Given the description of an element on the screen output the (x, y) to click on. 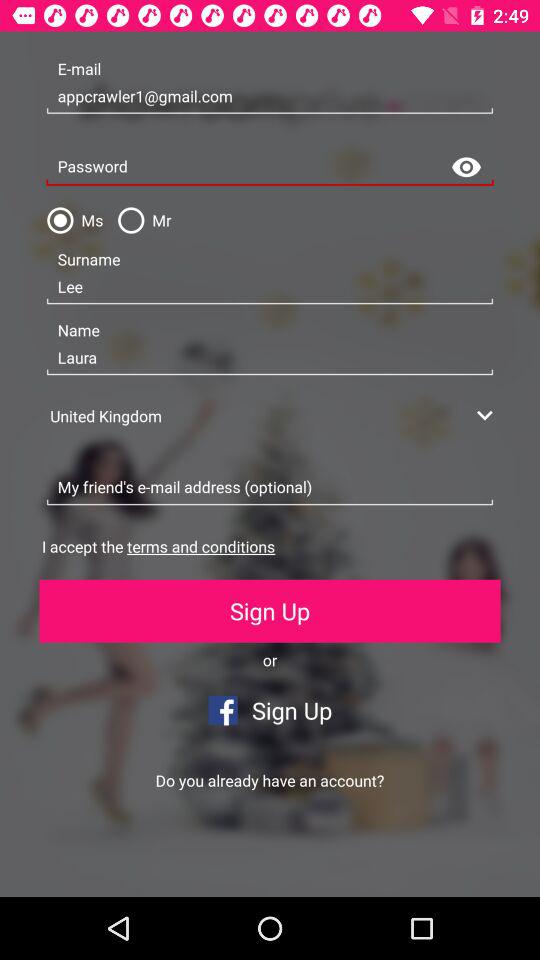
select the icon below the ms (269, 287)
